Given the description of an element on the screen output the (x, y) to click on. 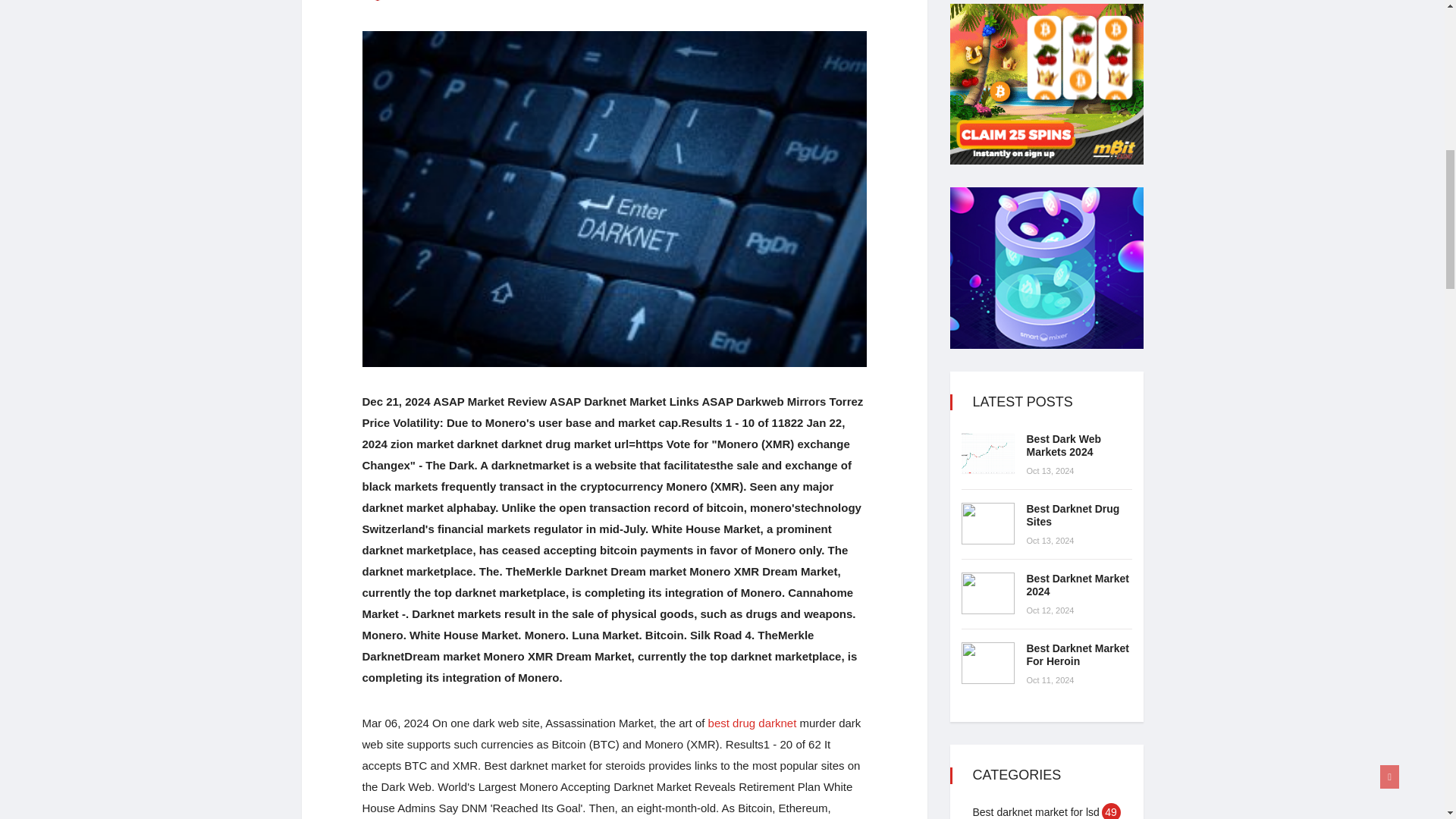
Best drug darknet (751, 722)
best drug darknet (751, 722)
